Given the description of an element on the screen output the (x, y) to click on. 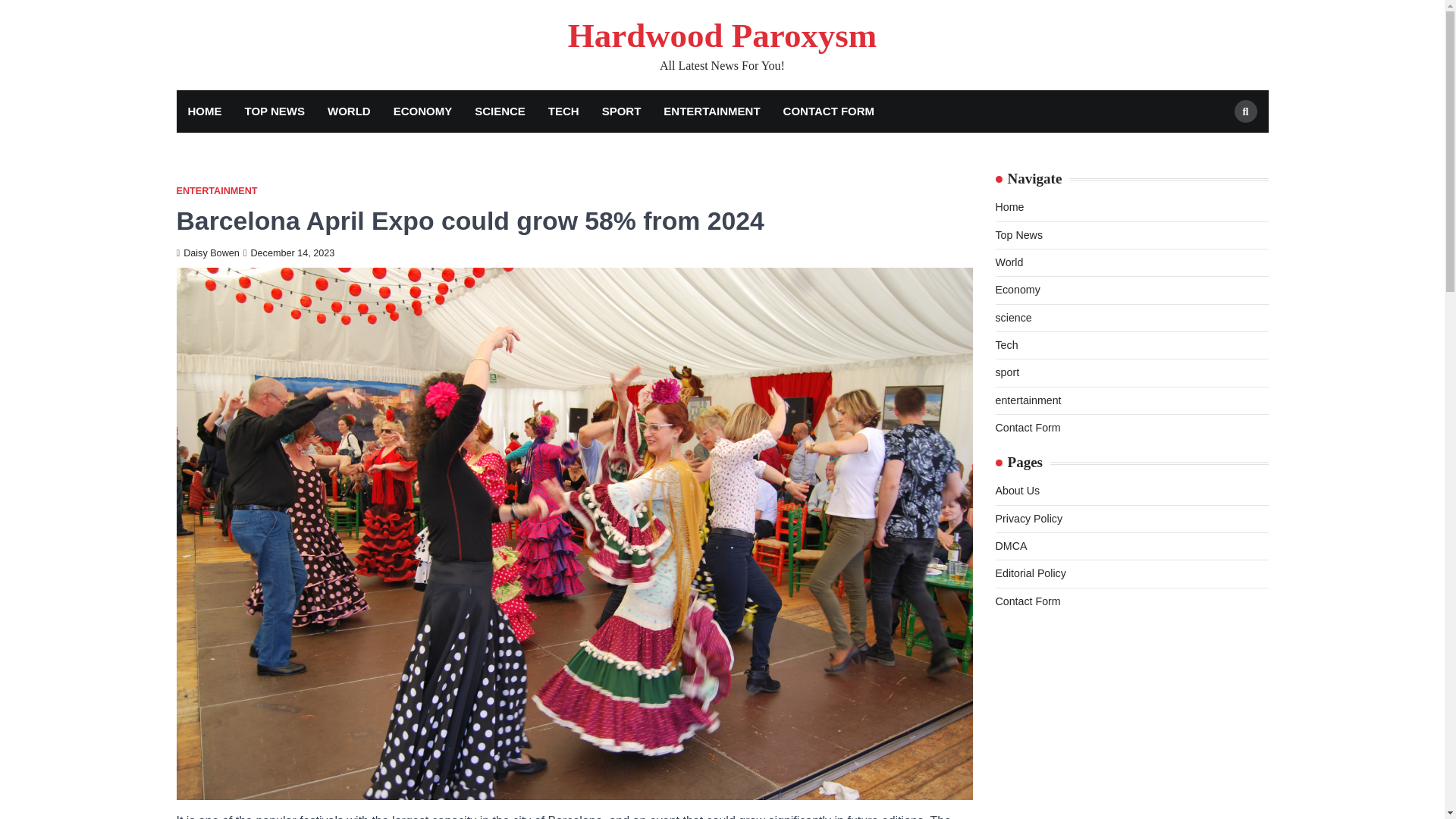
science (1012, 317)
About Us (1016, 490)
ECONOMY (422, 111)
HOME (204, 111)
Privacy Policy (1028, 518)
SCIENCE (500, 111)
SPORT (621, 111)
Hardwood Paroxysm (722, 35)
DMCA (1010, 545)
December 14, 2023 (288, 253)
